Given the description of an element on the screen output the (x, y) to click on. 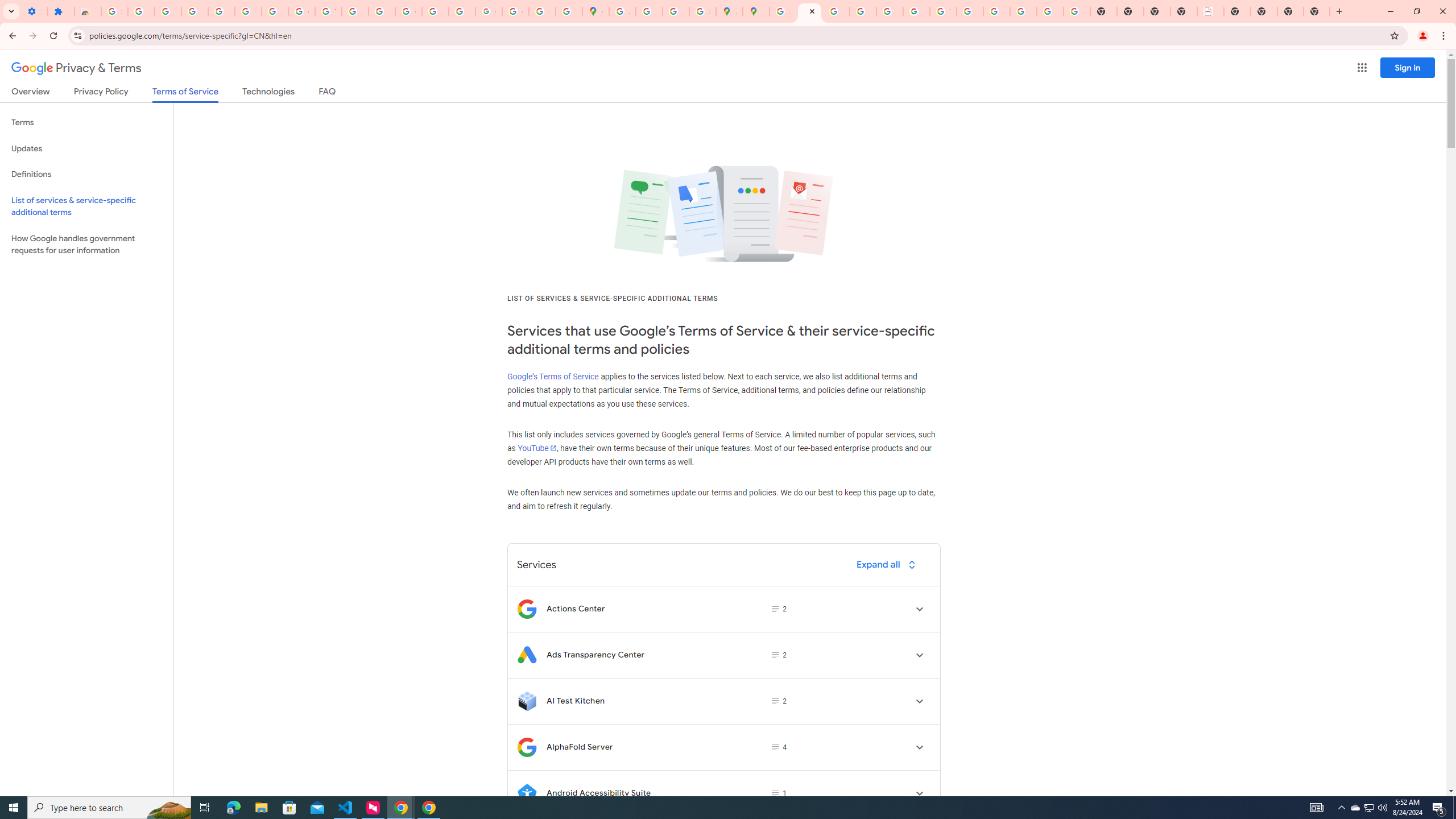
Privacy Help Center - Policies Help (862, 11)
New Tab (1290, 11)
Settings - On startup (34, 11)
New Tab (1316, 11)
https://scholar.google.com/ (382, 11)
